Given the description of an element on the screen output the (x, y) to click on. 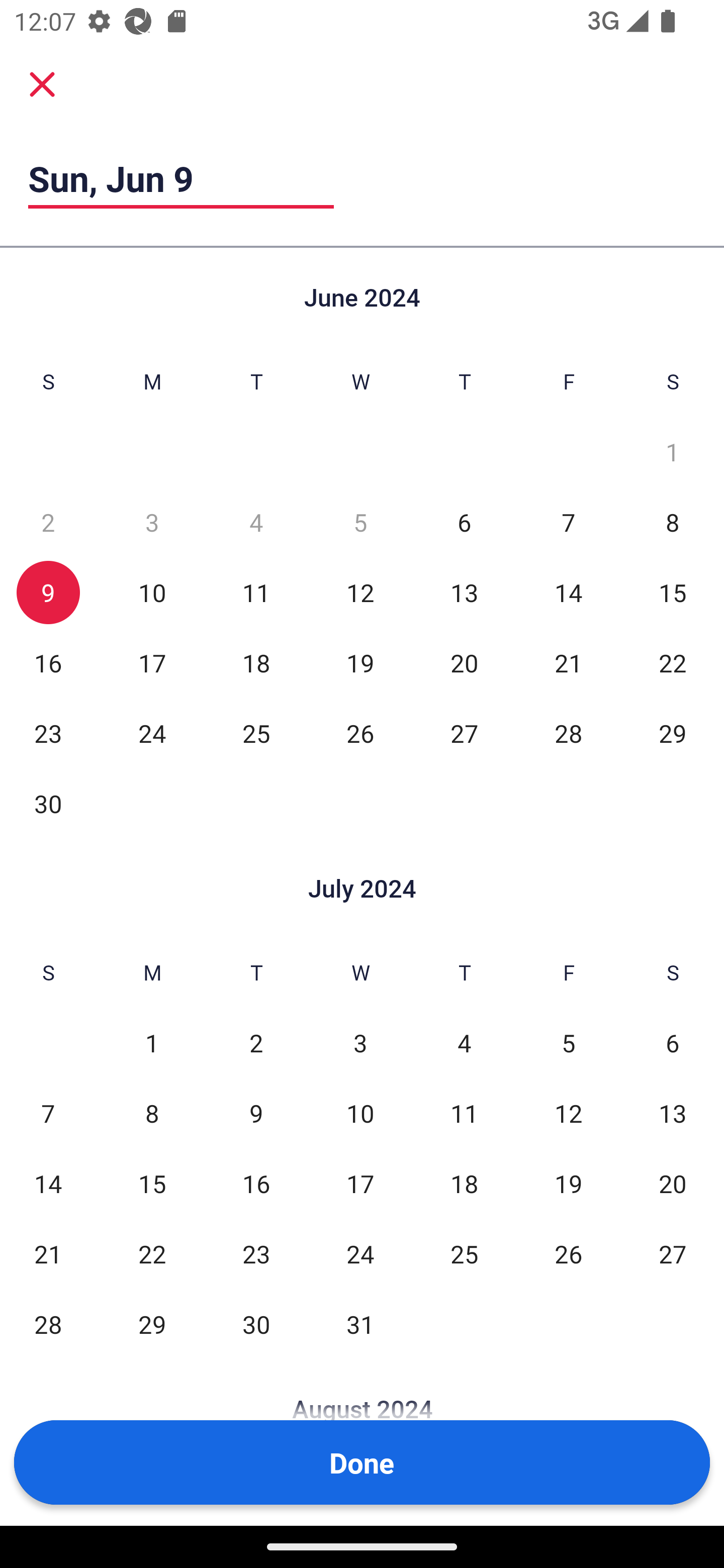
Cancel (42, 84)
Sun, Jun 9 (180, 178)
1 Sat, Jun 1, Not Selected (672, 452)
2 Sun, Jun 2, Not Selected (48, 521)
3 Mon, Jun 3, Not Selected (152, 521)
4 Tue, Jun 4, Not Selected (256, 521)
5 Wed, Jun 5, Not Selected (360, 521)
6 Thu, Jun 6, Not Selected (464, 521)
7 Fri, Jun 7, Not Selected (568, 521)
8 Sat, Jun 8, Not Selected (672, 521)
9 Sun, Jun 9, Selected (48, 591)
10 Mon, Jun 10, Not Selected (152, 591)
11 Tue, Jun 11, Not Selected (256, 591)
12 Wed, Jun 12, Not Selected (360, 591)
13 Thu, Jun 13, Not Selected (464, 591)
14 Fri, Jun 14, Not Selected (568, 591)
15 Sat, Jun 15, Not Selected (672, 591)
16 Sun, Jun 16, Not Selected (48, 662)
17 Mon, Jun 17, Not Selected (152, 662)
18 Tue, Jun 18, Not Selected (256, 662)
19 Wed, Jun 19, Not Selected (360, 662)
20 Thu, Jun 20, Not Selected (464, 662)
21 Fri, Jun 21, Not Selected (568, 662)
22 Sat, Jun 22, Not Selected (672, 662)
23 Sun, Jun 23, Not Selected (48, 732)
24 Mon, Jun 24, Not Selected (152, 732)
25 Tue, Jun 25, Not Selected (256, 732)
26 Wed, Jun 26, Not Selected (360, 732)
27 Thu, Jun 27, Not Selected (464, 732)
28 Fri, Jun 28, Not Selected (568, 732)
29 Sat, Jun 29, Not Selected (672, 732)
30 Sun, Jun 30, Not Selected (48, 803)
1 Mon, Jul 1, Not Selected (152, 1043)
2 Tue, Jul 2, Not Selected (256, 1043)
3 Wed, Jul 3, Not Selected (360, 1043)
4 Thu, Jul 4, Not Selected (464, 1043)
5 Fri, Jul 5, Not Selected (568, 1043)
6 Sat, Jul 6, Not Selected (672, 1043)
7 Sun, Jul 7, Not Selected (48, 1112)
8 Mon, Jul 8, Not Selected (152, 1112)
9 Tue, Jul 9, Not Selected (256, 1112)
10 Wed, Jul 10, Not Selected (360, 1112)
11 Thu, Jul 11, Not Selected (464, 1112)
12 Fri, Jul 12, Not Selected (568, 1112)
13 Sat, Jul 13, Not Selected (672, 1112)
14 Sun, Jul 14, Not Selected (48, 1182)
15 Mon, Jul 15, Not Selected (152, 1182)
16 Tue, Jul 16, Not Selected (256, 1182)
17 Wed, Jul 17, Not Selected (360, 1182)
18 Thu, Jul 18, Not Selected (464, 1182)
19 Fri, Jul 19, Not Selected (568, 1182)
20 Sat, Jul 20, Not Selected (672, 1182)
21 Sun, Jul 21, Not Selected (48, 1253)
22 Mon, Jul 22, Not Selected (152, 1253)
23 Tue, Jul 23, Not Selected (256, 1253)
24 Wed, Jul 24, Not Selected (360, 1253)
25 Thu, Jul 25, Not Selected (464, 1253)
26 Fri, Jul 26, Not Selected (568, 1253)
27 Sat, Jul 27, Not Selected (672, 1253)
28 Sun, Jul 28, Not Selected (48, 1323)
29 Mon, Jul 29, Not Selected (152, 1323)
30 Tue, Jul 30, Not Selected (256, 1323)
31 Wed, Jul 31, Not Selected (360, 1323)
Done Button Done (361, 1462)
